Given the description of an element on the screen output the (x, y) to click on. 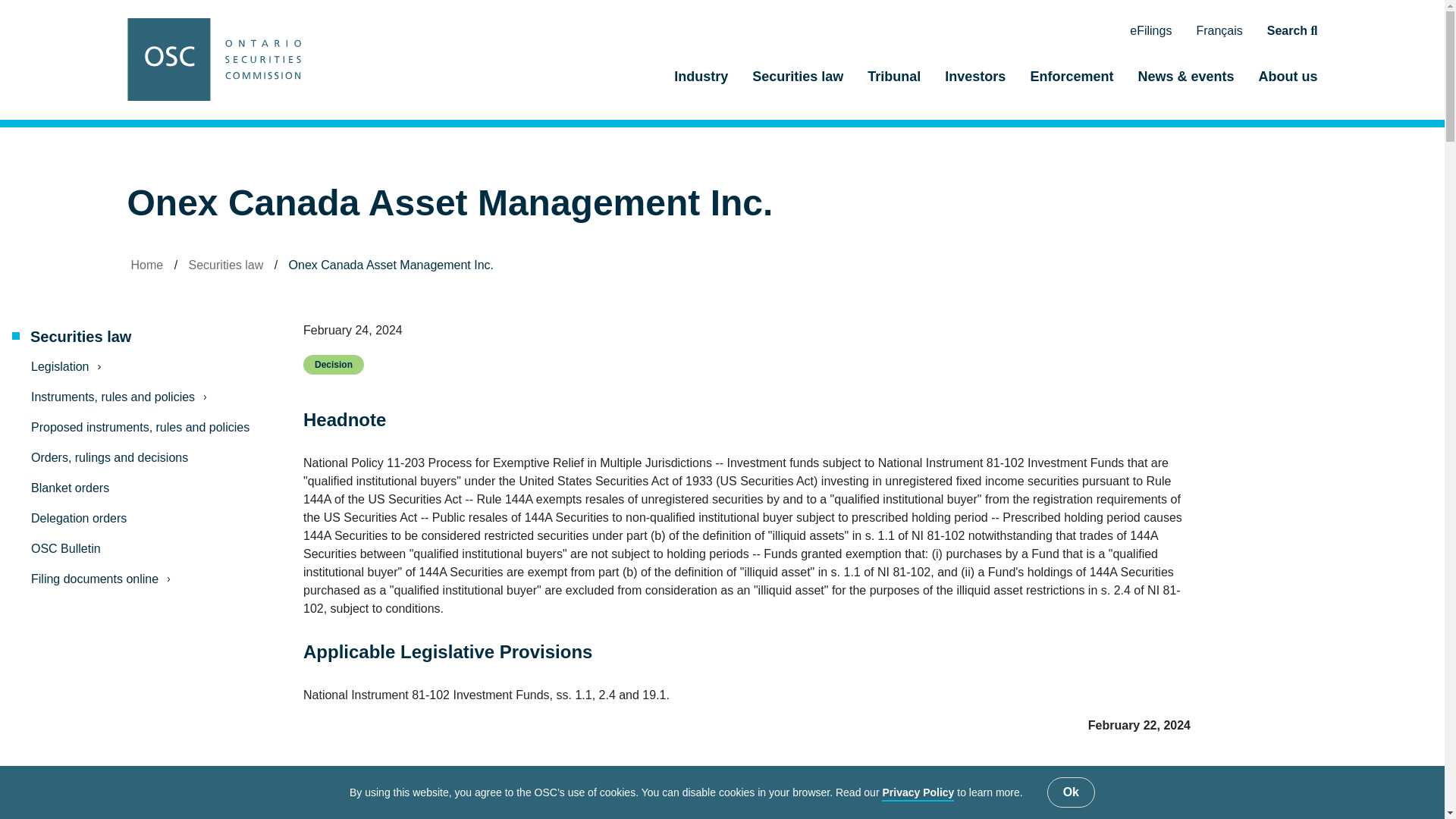
Industry (700, 83)
Tribunal Landing (894, 83)
Securities Law Landing (139, 336)
Investors Landing (975, 83)
Enforcement Landing (1071, 83)
About us Landing (1281, 83)
Securities Law Landing (797, 83)
Industry Landing (700, 83)
eFilings (1150, 30)
Search (1291, 30)
